Given the description of an element on the screen output the (x, y) to click on. 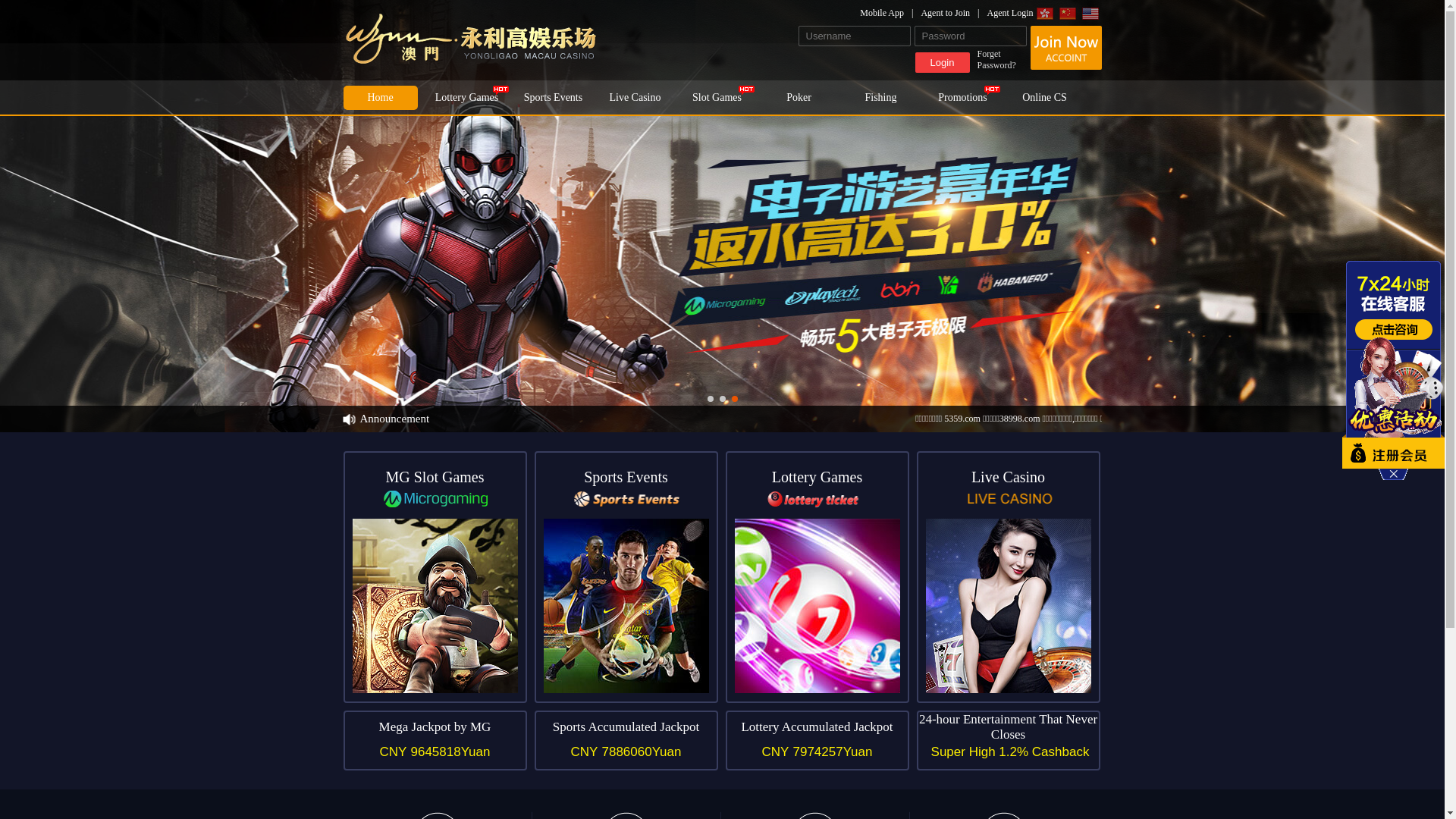
Agent to Join Element type: text (953, 12)
Mobile App Element type: text (889, 12)
Login Element type: text (941, 62)
Live Casino Element type: text (1007, 576)
Sports Events Element type: text (625, 576)
Sports Events Element type: text (552, 97)
Promotions Element type: text (962, 97)
Live Casino Element type: text (634, 97)
Fishing Element type: text (880, 97)
MG Slot Games Element type: text (434, 576)
Lottery Games Element type: text (466, 97)
Home Element type: text (379, 97)
Slot Games Element type: text (716, 97)
Agent Login Element type: text (1010, 12)
Mega Jackpot by MG
CNY9645801Yuan Element type: text (434, 740)
Forget Password? Element type: text (1000, 59)
Lottery Games Element type: text (816, 576)
Lottery Accumulated Jackpot
CNY7974248Yuan Element type: text (816, 740)
Poker Element type: text (798, 97)
Sports Accumulated Jackpot
CNY7886052Yuan Element type: text (625, 740)
Online CS Element type: text (1044, 97)
